Given the description of an element on the screen output the (x, y) to click on. 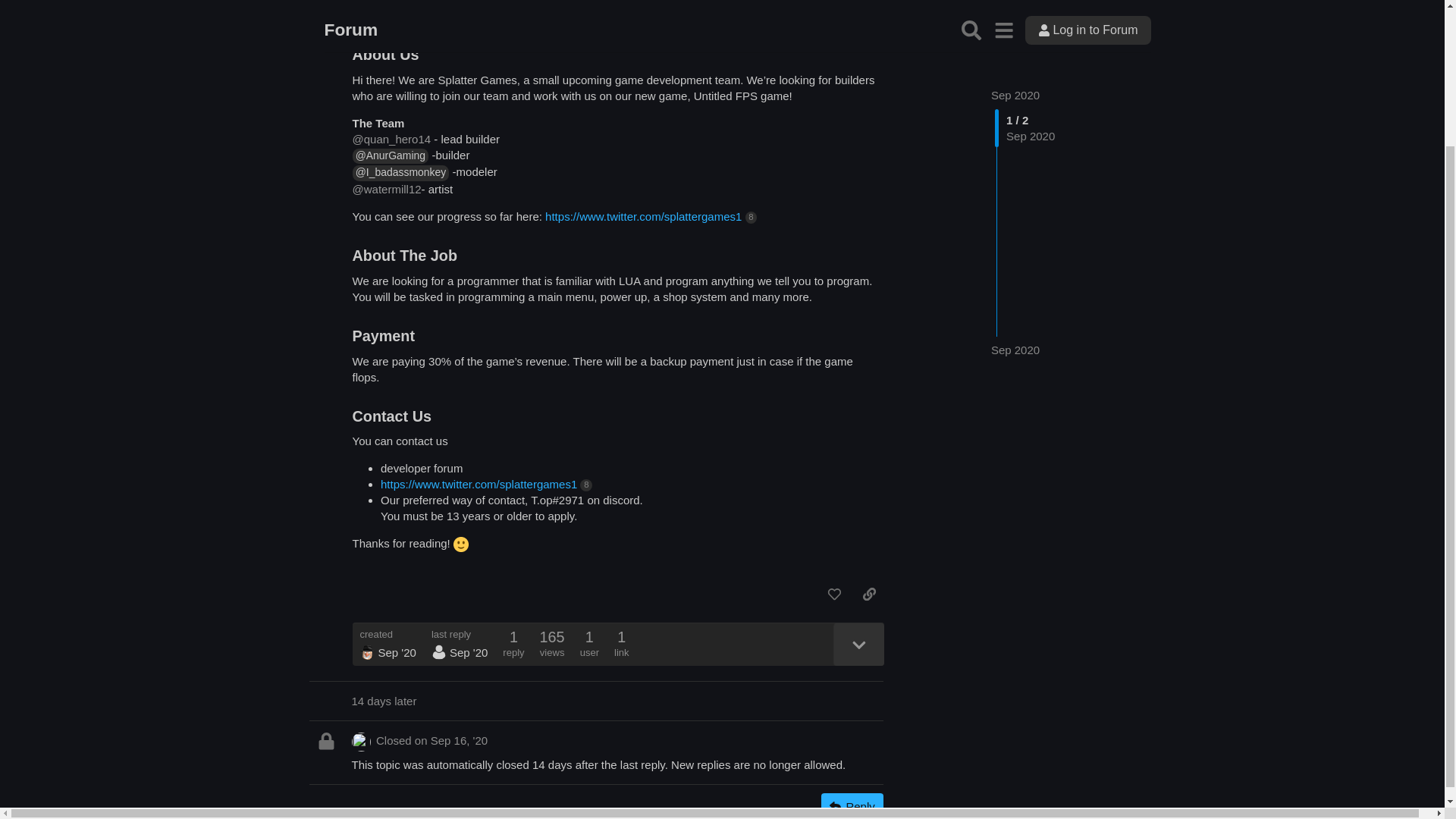
expand topic details (857, 644)
Sep 2, 2020 4:03 am (395, 652)
Sep 2020 (1015, 24)
mrbuns (366, 652)
Sep 2020 (1015, 279)
Sep '20 (856, 23)
iWinterNation (434, 23)
Post date (856, 23)
like this post (833, 594)
8 clicks (751, 217)
